Given the description of an element on the screen output the (x, y) to click on. 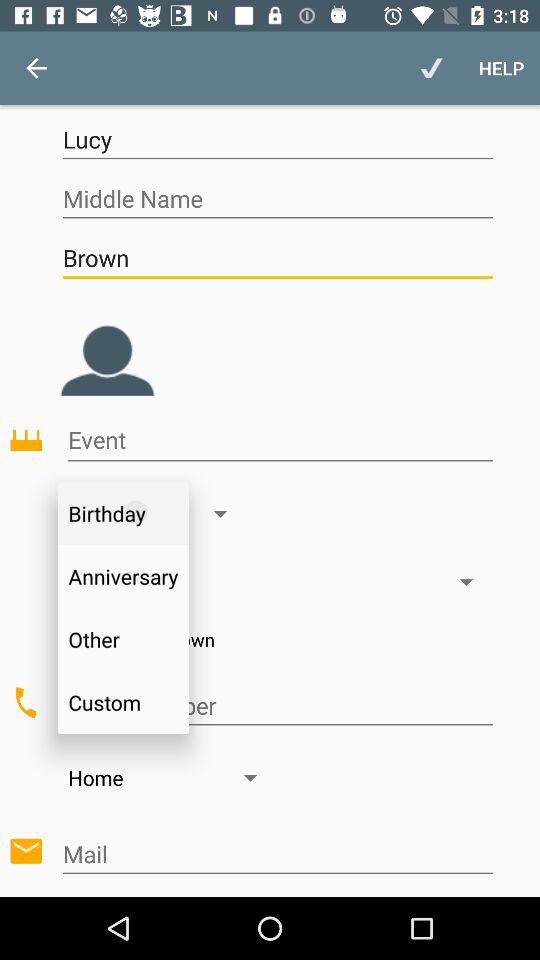
choose lucy icon (277, 139)
